Given the description of an element on the screen output the (x, y) to click on. 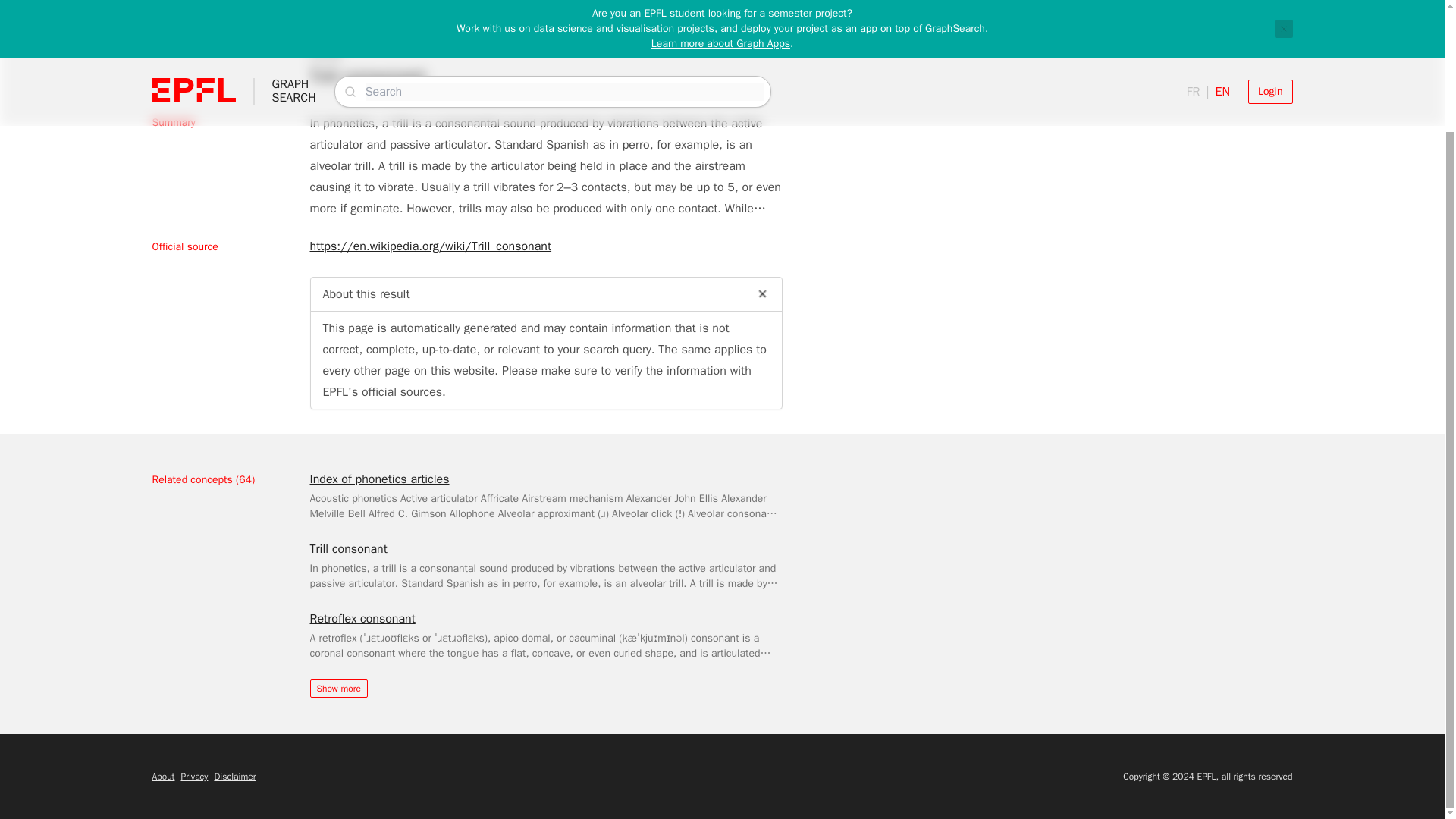
Index of phonetics articles (378, 479)
Home (162, 9)
Disclaimer (235, 776)
Retroflex consonant (361, 618)
Show more (337, 688)
About (162, 776)
Privacy (194, 776)
Trill consonant (224, 9)
Trill consonant (347, 548)
